Given the description of an element on the screen output the (x, y) to click on. 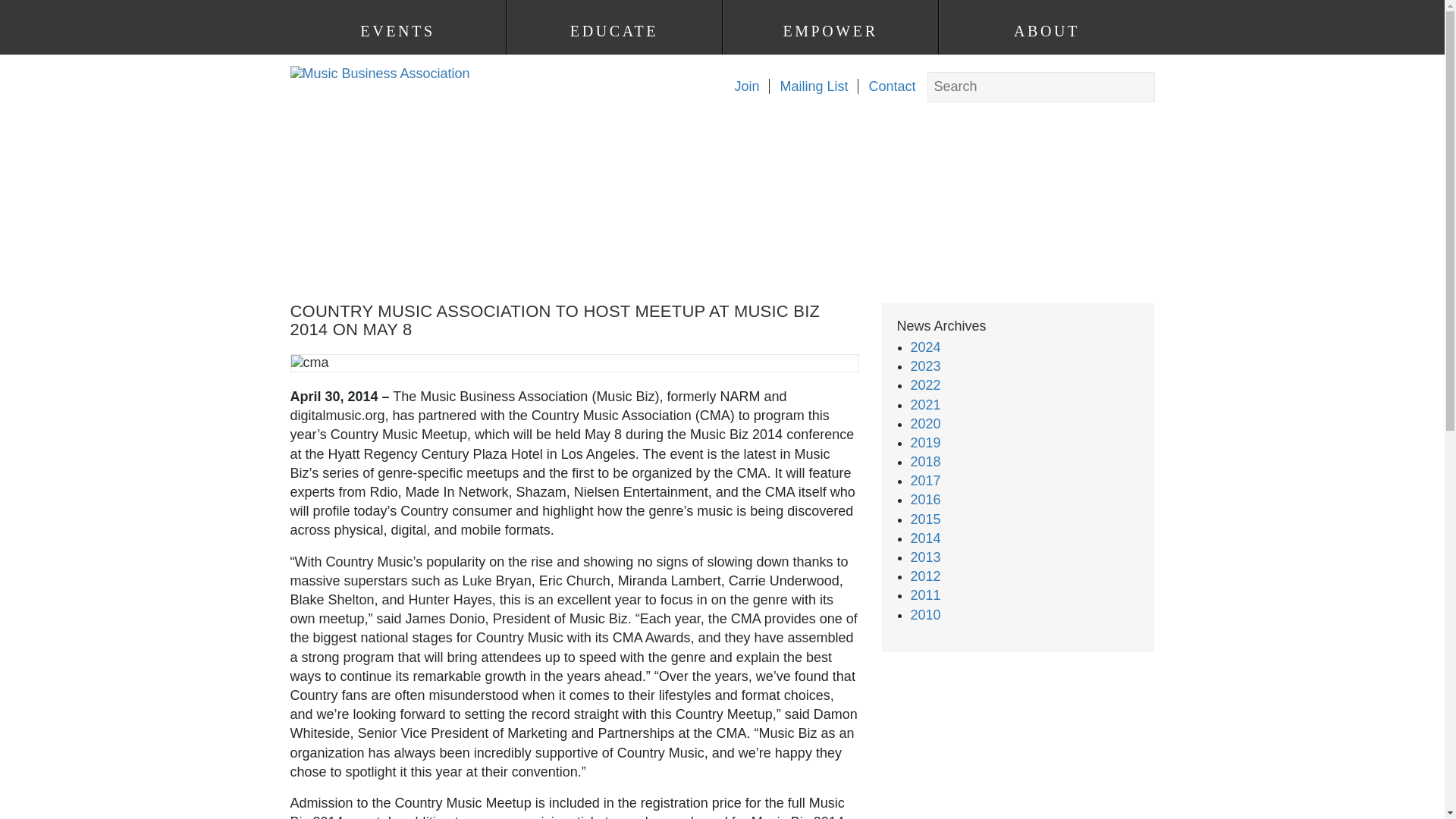
EVENTS (397, 31)
Contact (886, 86)
Search (27, 10)
Join (740, 86)
EDUCATE (613, 31)
Mailing List (807, 86)
EMPOWER (830, 31)
ABOUT (1046, 31)
